Given the description of an element on the screen output the (x, y) to click on. 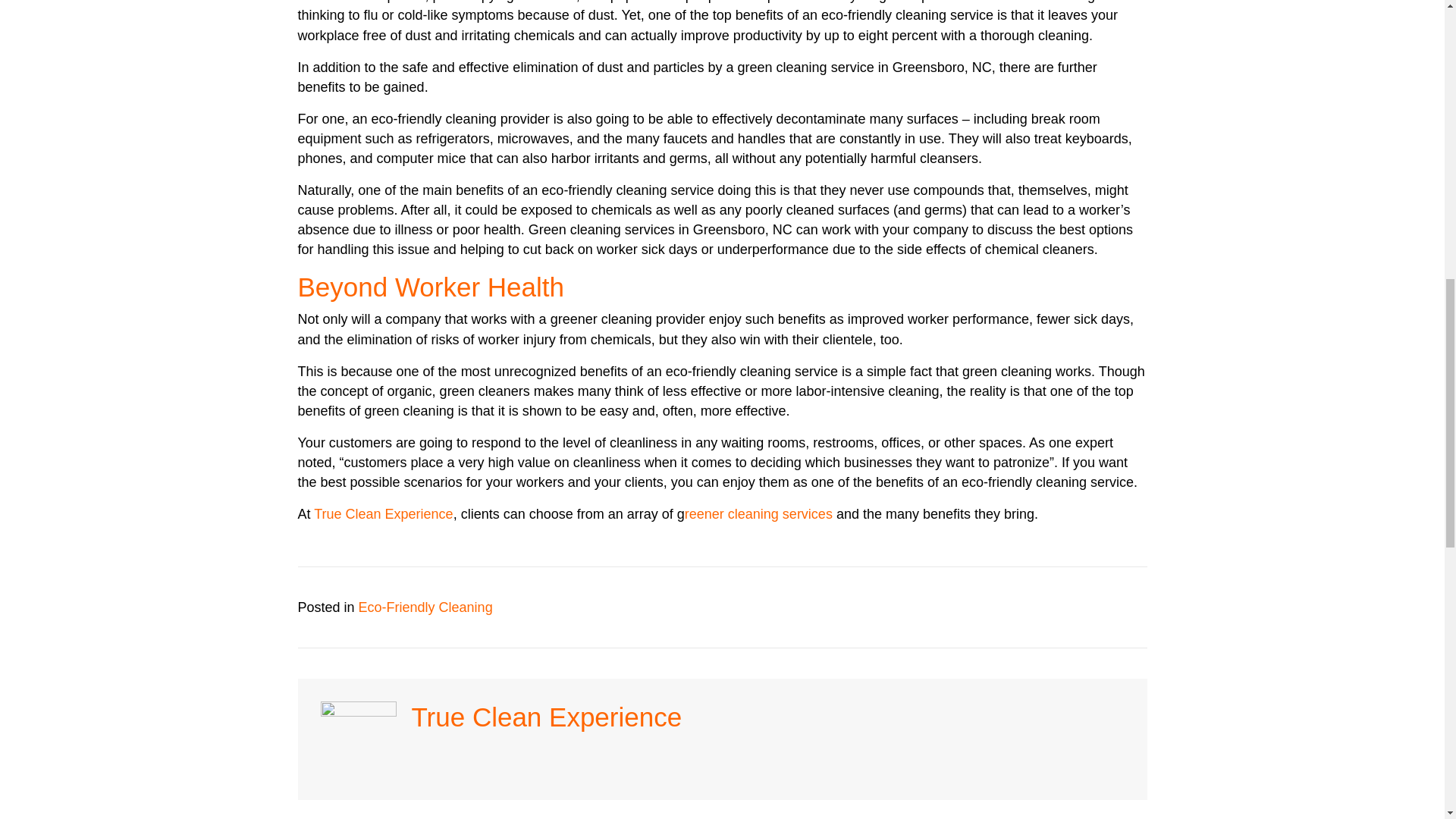
Eco-Friendly Cleaning (425, 607)
True Clean Experience (383, 513)
reener cleaning services (758, 513)
